Given the description of an element on the screen output the (x, y) to click on. 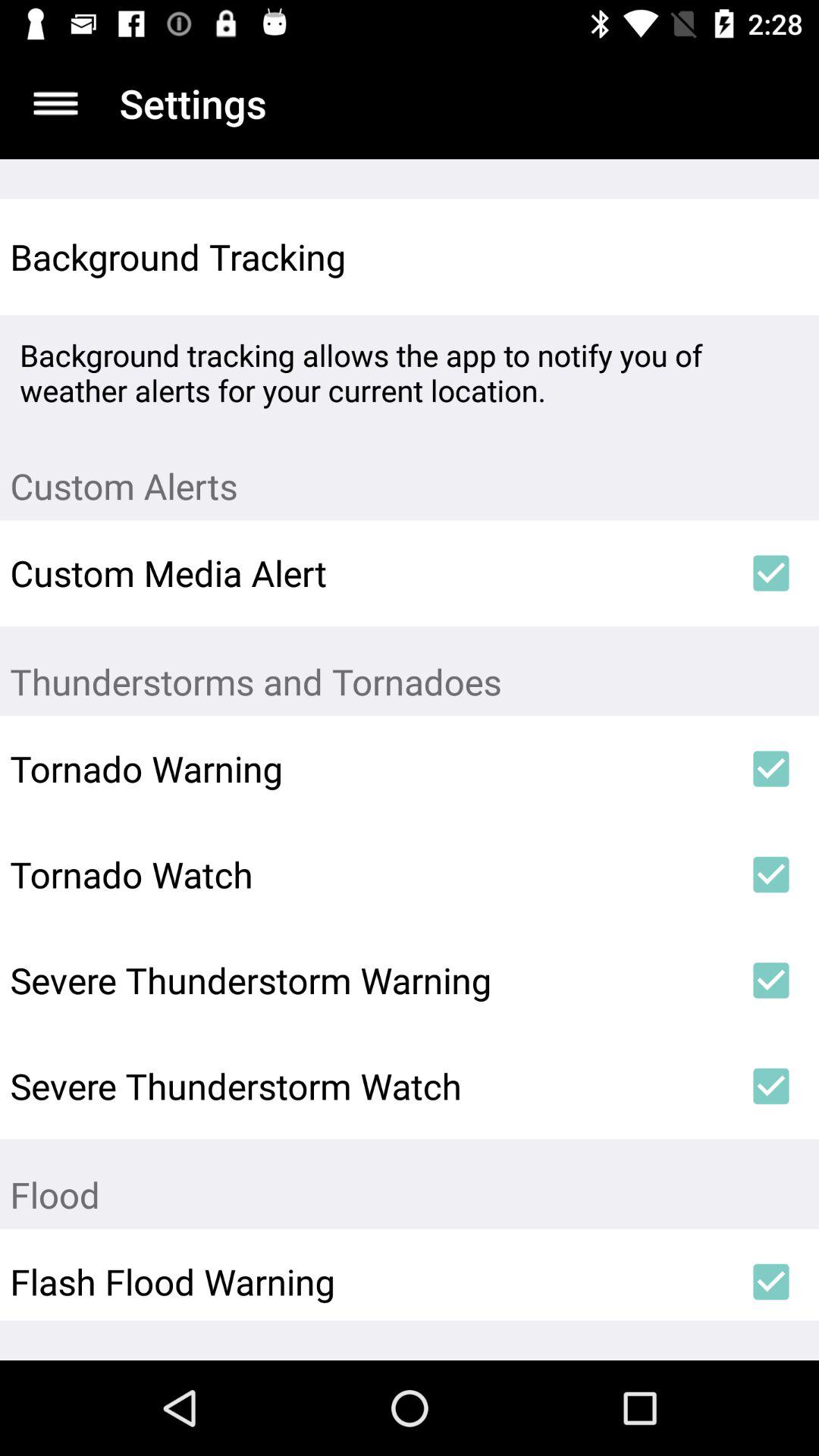
press the item to the right of the severe thunderstorm warning (771, 980)
